Given the description of an element on the screen output the (x, y) to click on. 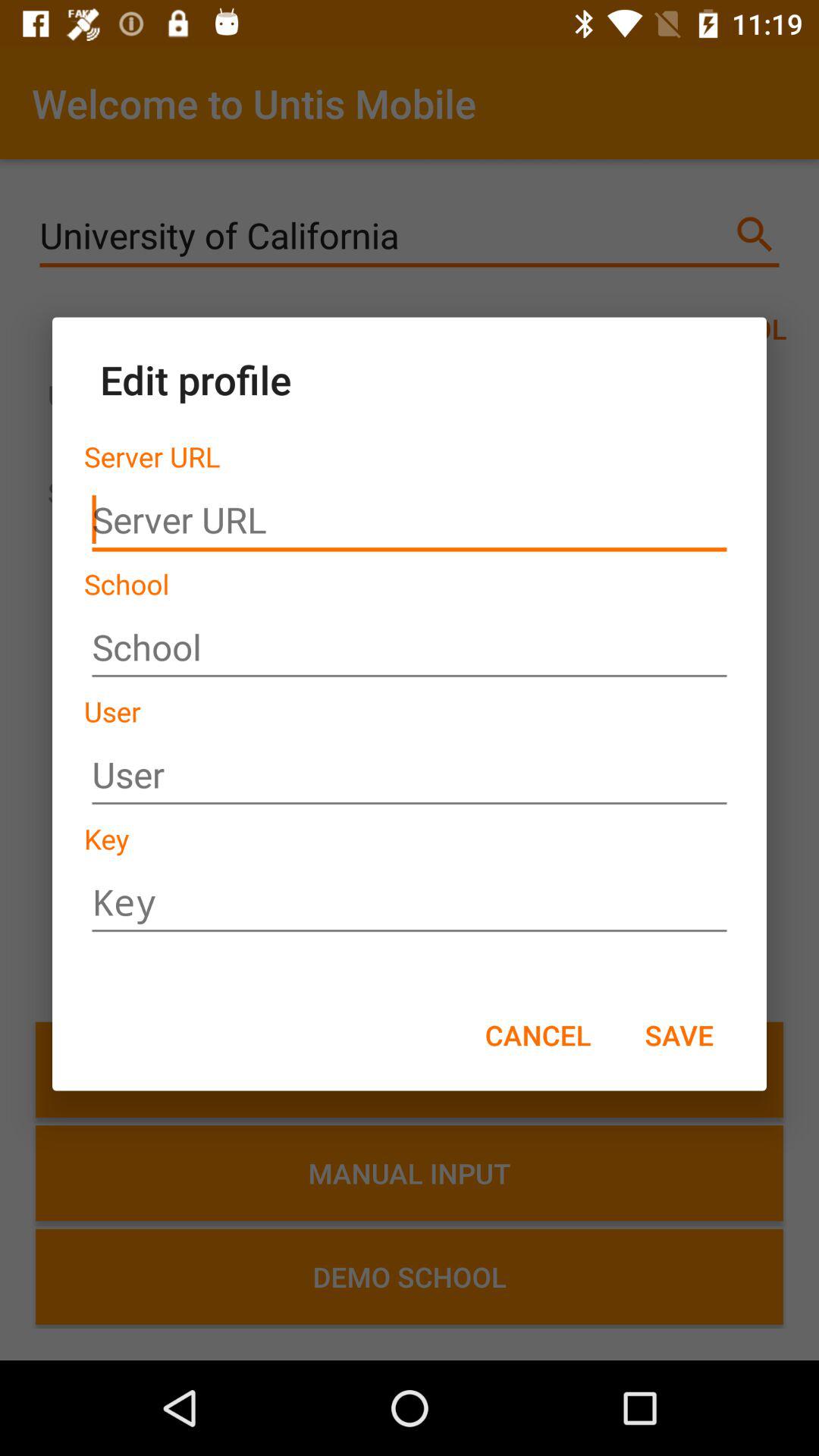
insert user info (409, 775)
